Given the description of an element on the screen output the (x, y) to click on. 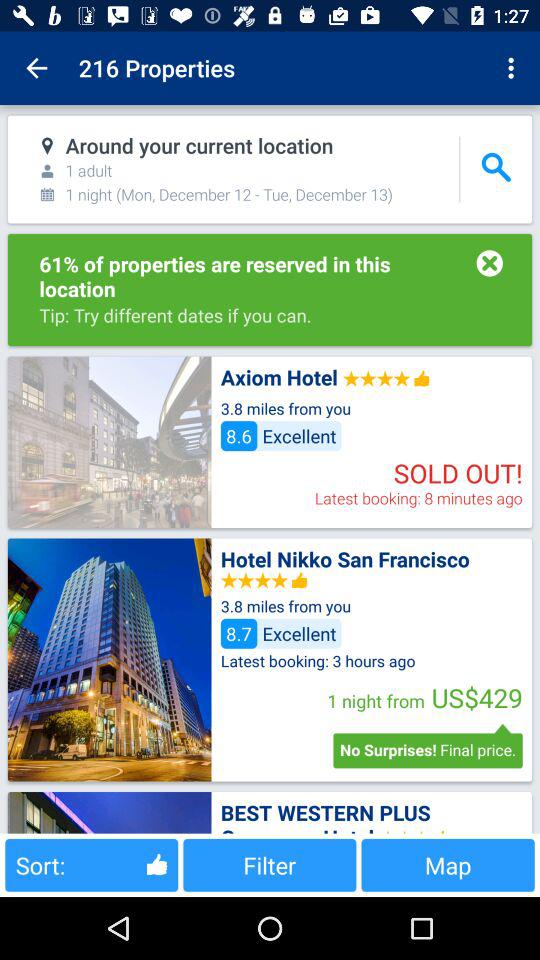
turn off item to the right of the 216 properties icon (513, 67)
